Given the description of an element on the screen output the (x, y) to click on. 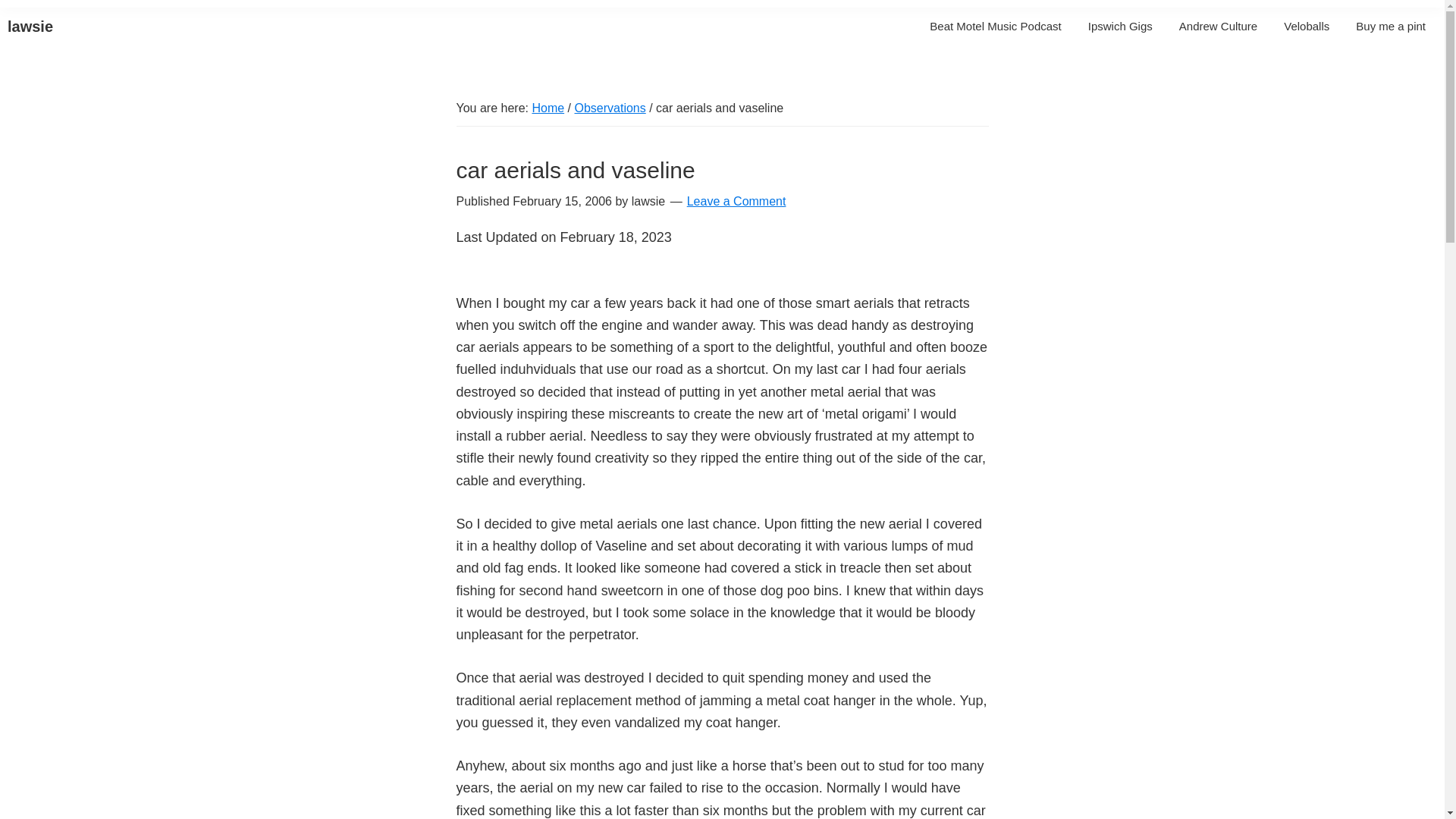
Ipswich Gigs (1120, 25)
Home (547, 107)
lawsie (29, 26)
Observations (609, 107)
Leave a Comment (736, 201)
Andrew Culture (1217, 25)
Buy me a pint (1390, 25)
Beat Motel Music Podcast (994, 25)
Veloballs (1306, 25)
